Given the description of an element on the screen output the (x, y) to click on. 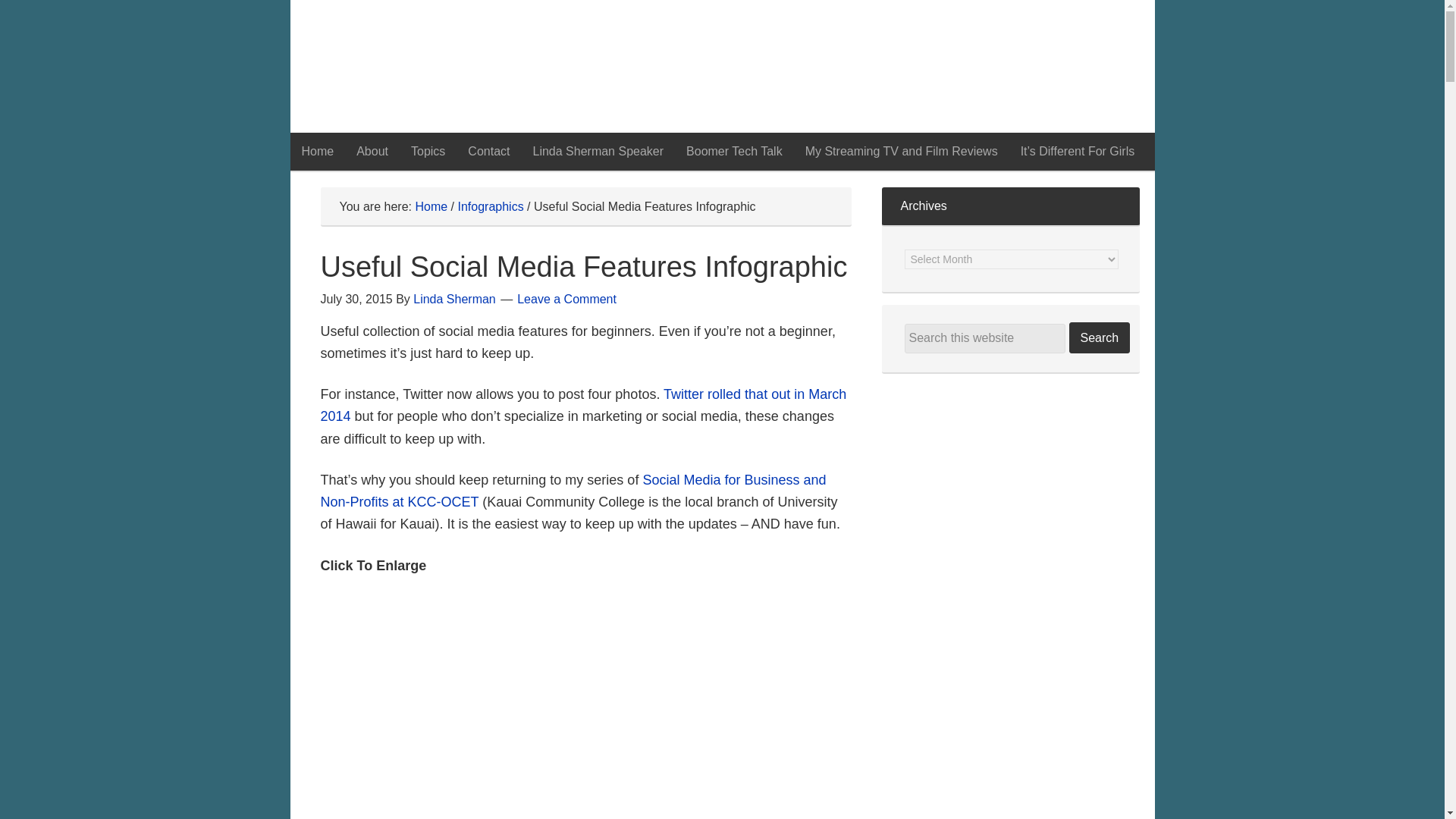
Leave a Comment (565, 298)
Topics (427, 151)
Home (317, 151)
Boomer Tech Talk (734, 151)
Infographics (489, 205)
Ask Linda Sherman (721, 66)
Twitter rolled that out in March 2014 (582, 405)
My Streaming TV and Film Reviews (901, 151)
Social Media for Business and Non-Profits at KCC-OCET (572, 490)
Linda Sherman (454, 298)
Search (1099, 337)
Contact (489, 151)
Linda Sherman Speaker (598, 151)
Home (430, 205)
About (371, 151)
